Given the description of an element on the screen output the (x, y) to click on. 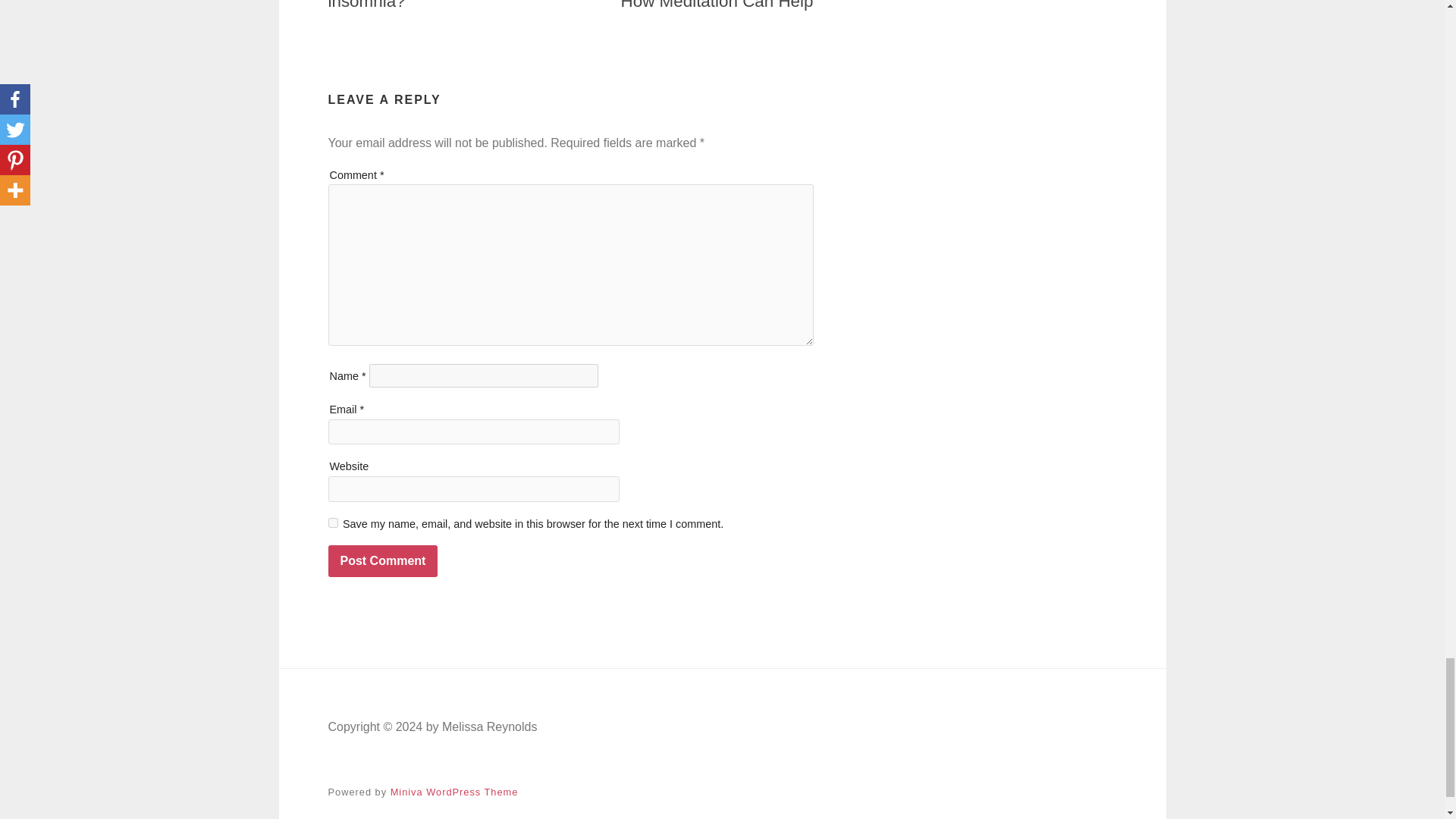
Post Comment (382, 561)
yes (332, 522)
